Given the description of an element on the screen output the (x, y) to click on. 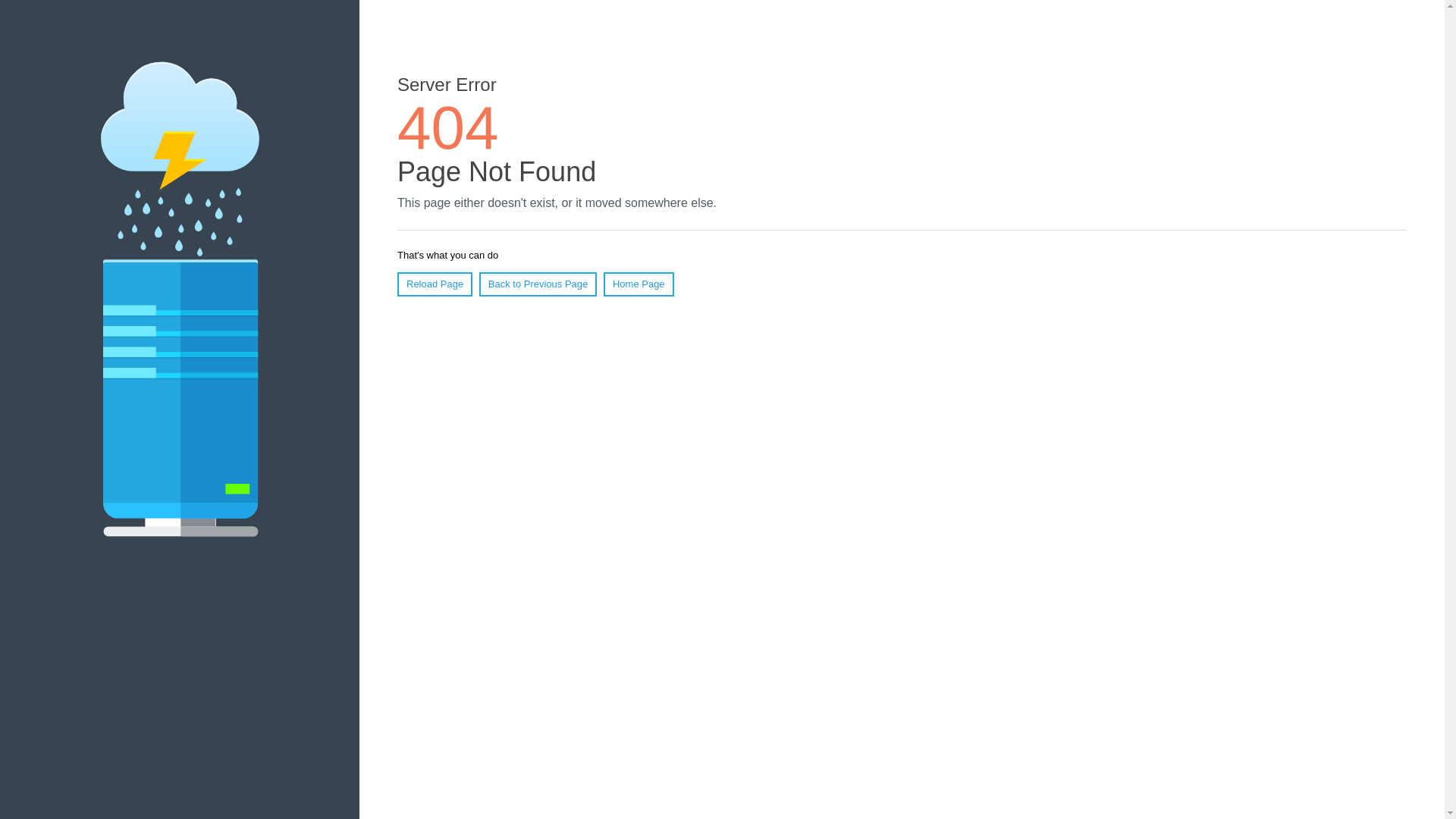
Back to Previous Page Element type: text (538, 284)
Home Page Element type: text (638, 284)
Reload Page Element type: text (434, 284)
